Given the description of an element on the screen output the (x, y) to click on. 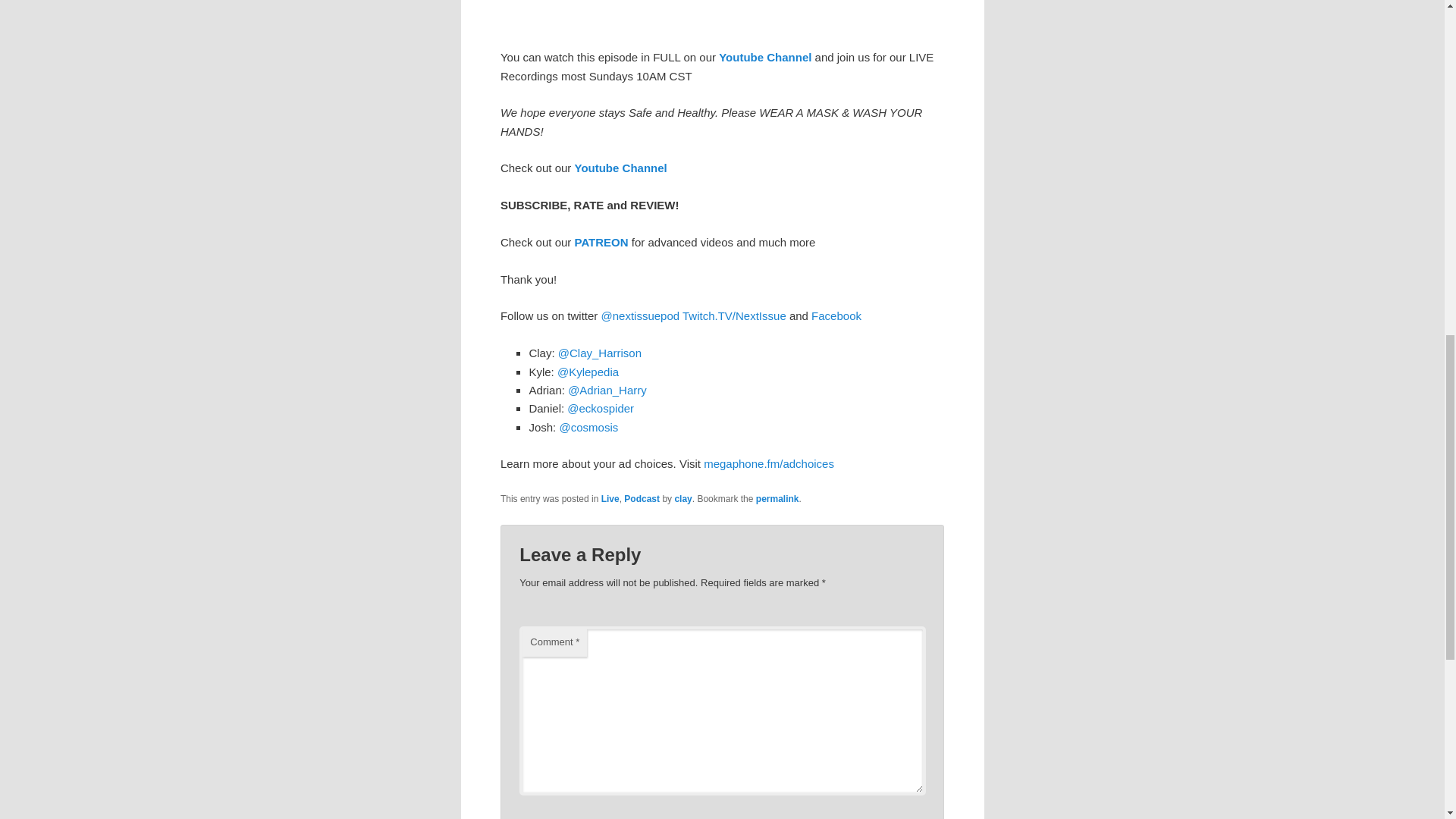
Live (610, 498)
Youtube Channel (620, 167)
permalink (777, 498)
PATREON (601, 241)
Youtube Channel (764, 56)
Podcast (641, 498)
clay (682, 498)
Facebook (835, 315)
